Given the description of an element on the screen output the (x, y) to click on. 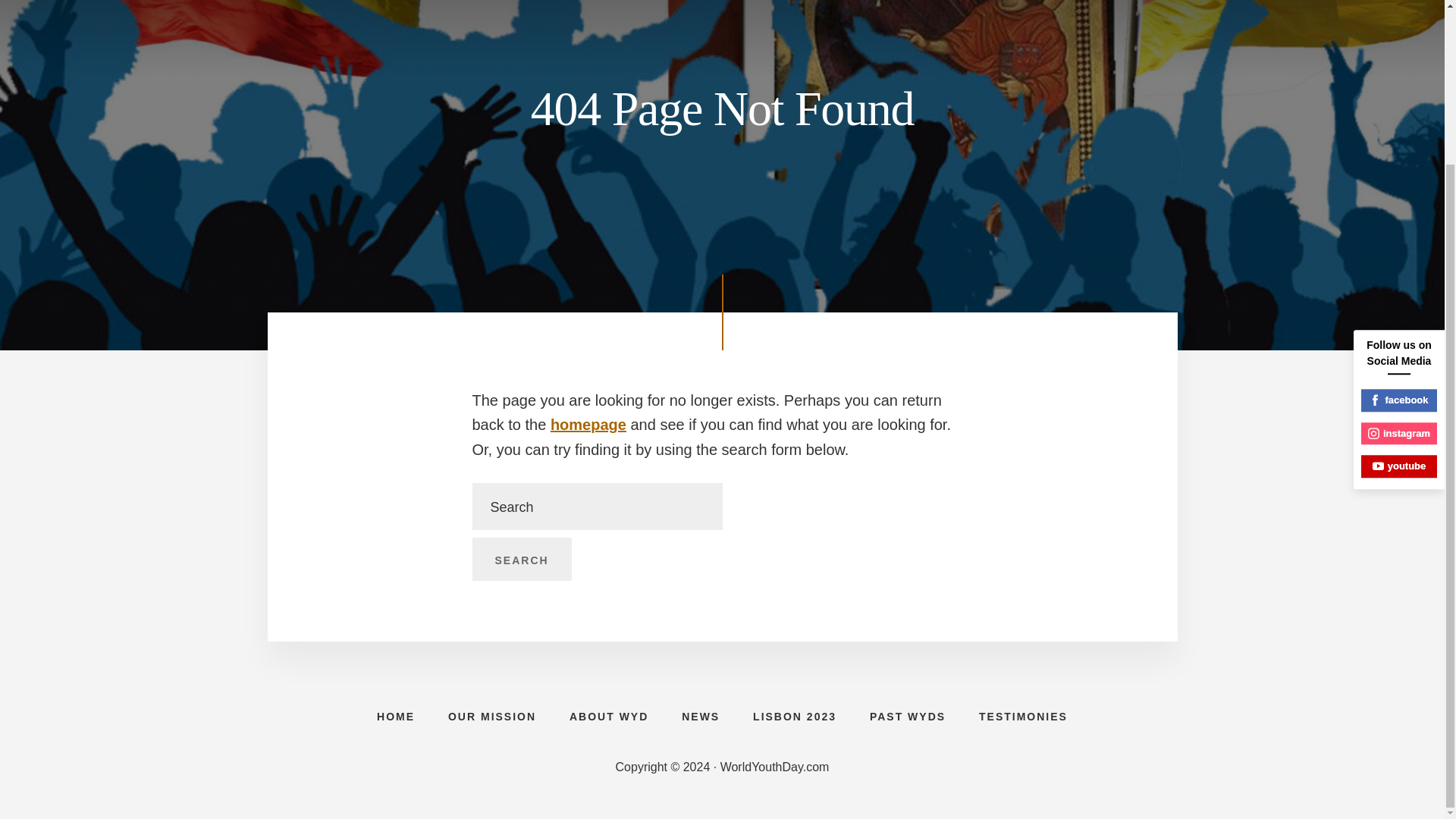
NEWS (700, 716)
facebook (1399, 204)
instagram (1399, 237)
TESTIMONIES (1023, 716)
Search (520, 559)
LISBON 2023 (794, 716)
youtube (1399, 270)
ABOUT WYD (608, 716)
Search (520, 559)
Search (520, 559)
OUR MISSION (491, 716)
HOME (395, 716)
homepage (588, 424)
PAST WYDS (907, 716)
